Given the description of an element on the screen output the (x, y) to click on. 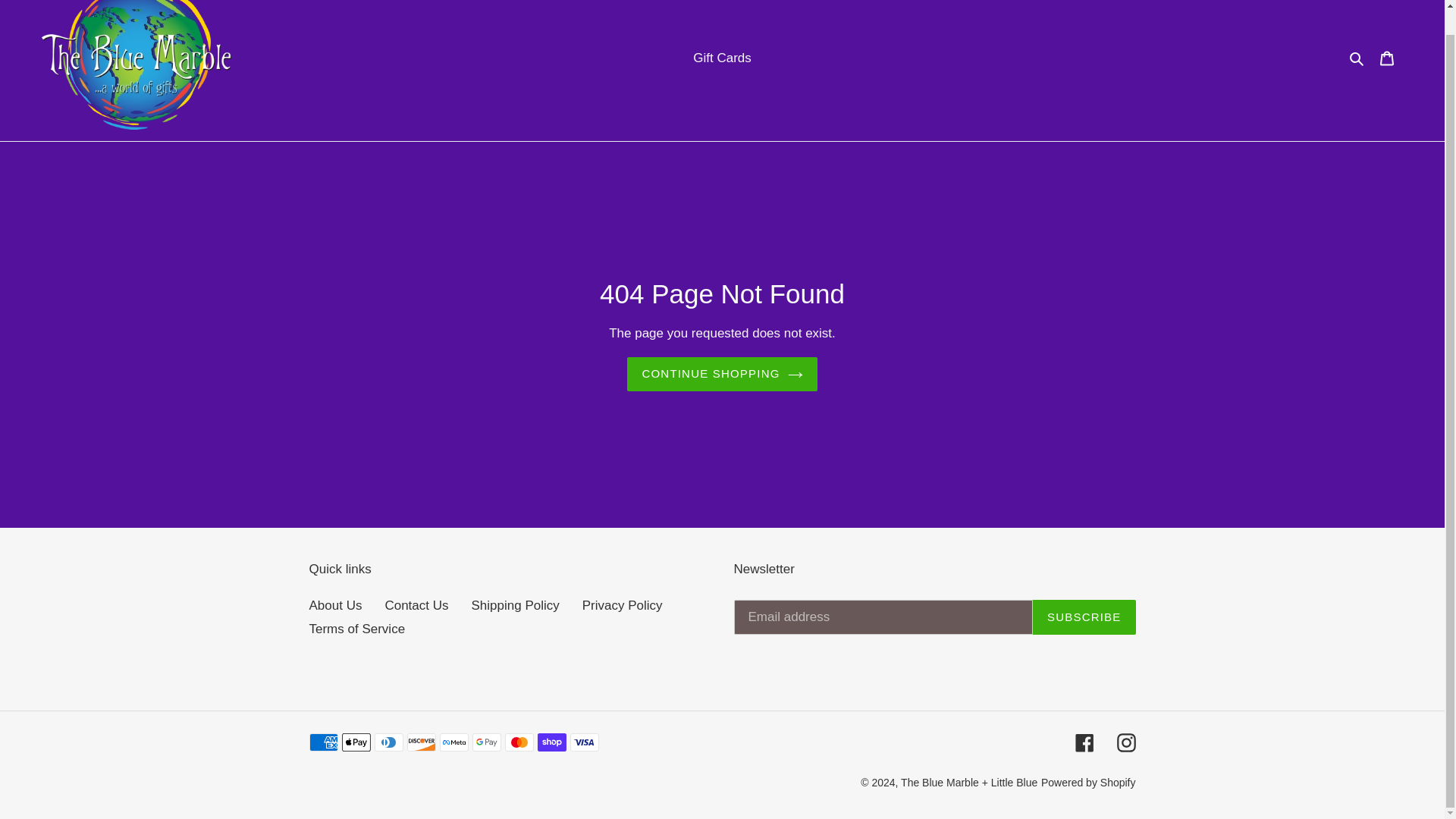
Powered by Shopify (1088, 782)
Gift Cards (721, 57)
Cart (1387, 58)
Search (1357, 57)
SUBSCRIBE (1083, 616)
Instagram (1125, 742)
Contact Us (416, 605)
Privacy Policy (622, 605)
Terms of Service (357, 628)
About Us (335, 605)
CONTINUE SHOPPING (721, 374)
Shipping Policy (515, 605)
Facebook (1084, 742)
